Given the description of an element on the screen output the (x, y) to click on. 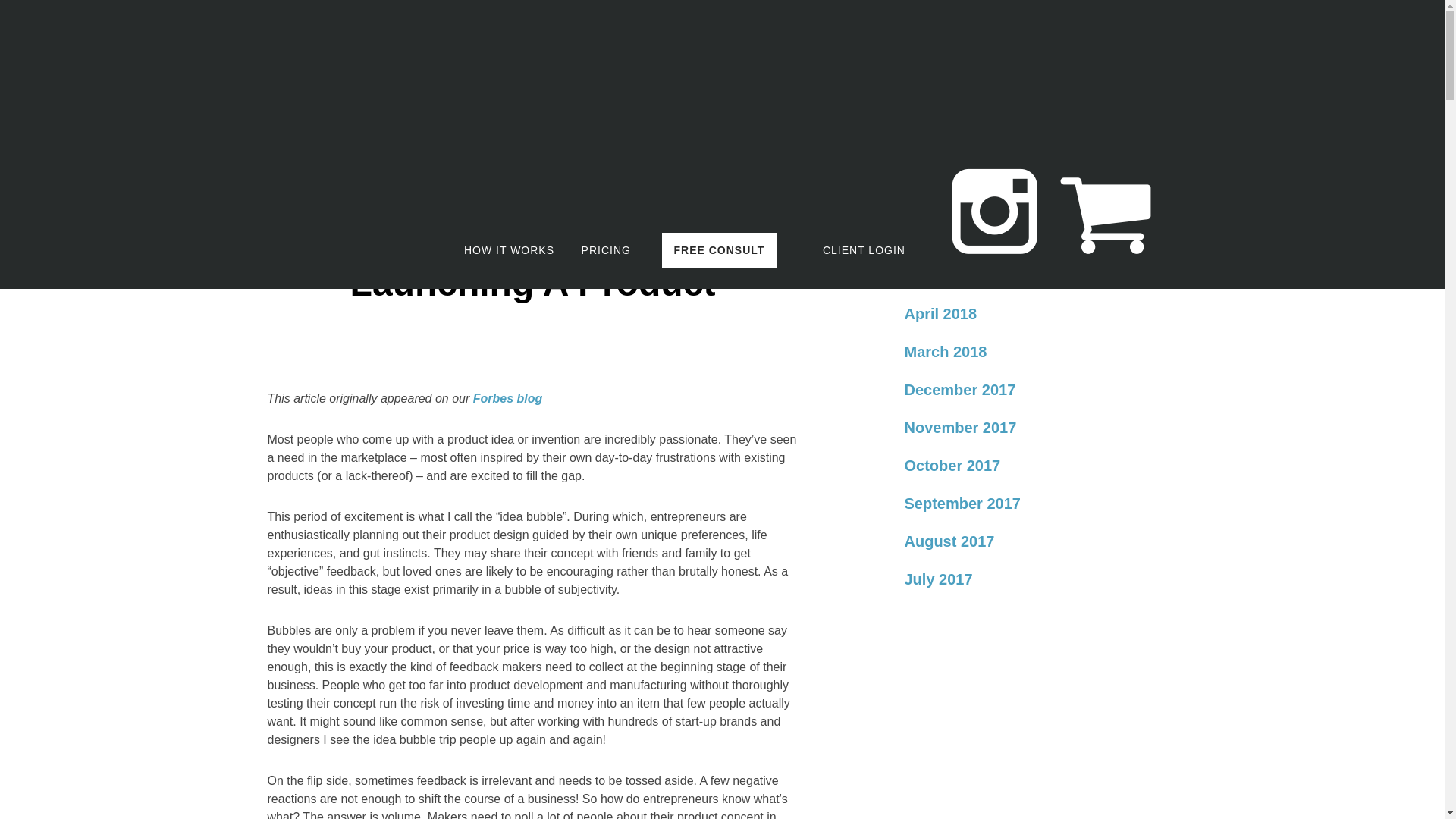
HOW IT WORKS (509, 250)
Free Consult (719, 249)
How It Works (509, 250)
CLIENT LOGIN (863, 250)
FREE CONSULT (719, 249)
LEARN TO MAKE A PRODUCT (380, 66)
PRICING (606, 250)
Forbes blog (508, 398)
Pricing (606, 250)
